Given the description of an element on the screen output the (x, y) to click on. 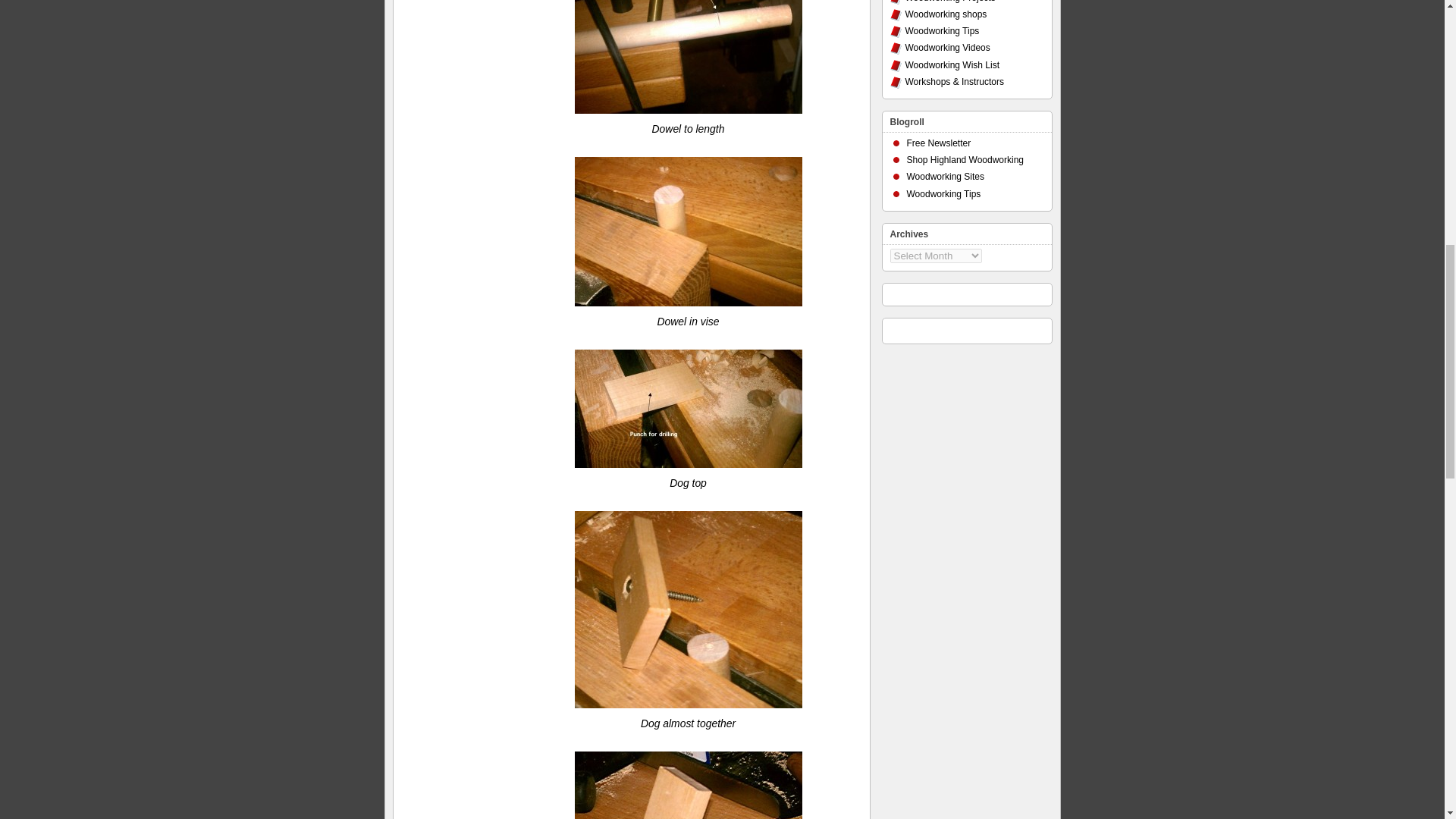
Dog almost together (688, 609)
Completed Dog (688, 785)
Dowel to length (688, 56)
Dog top (688, 408)
Dowel in vise (688, 231)
